Given the description of an element on the screen output the (x, y) to click on. 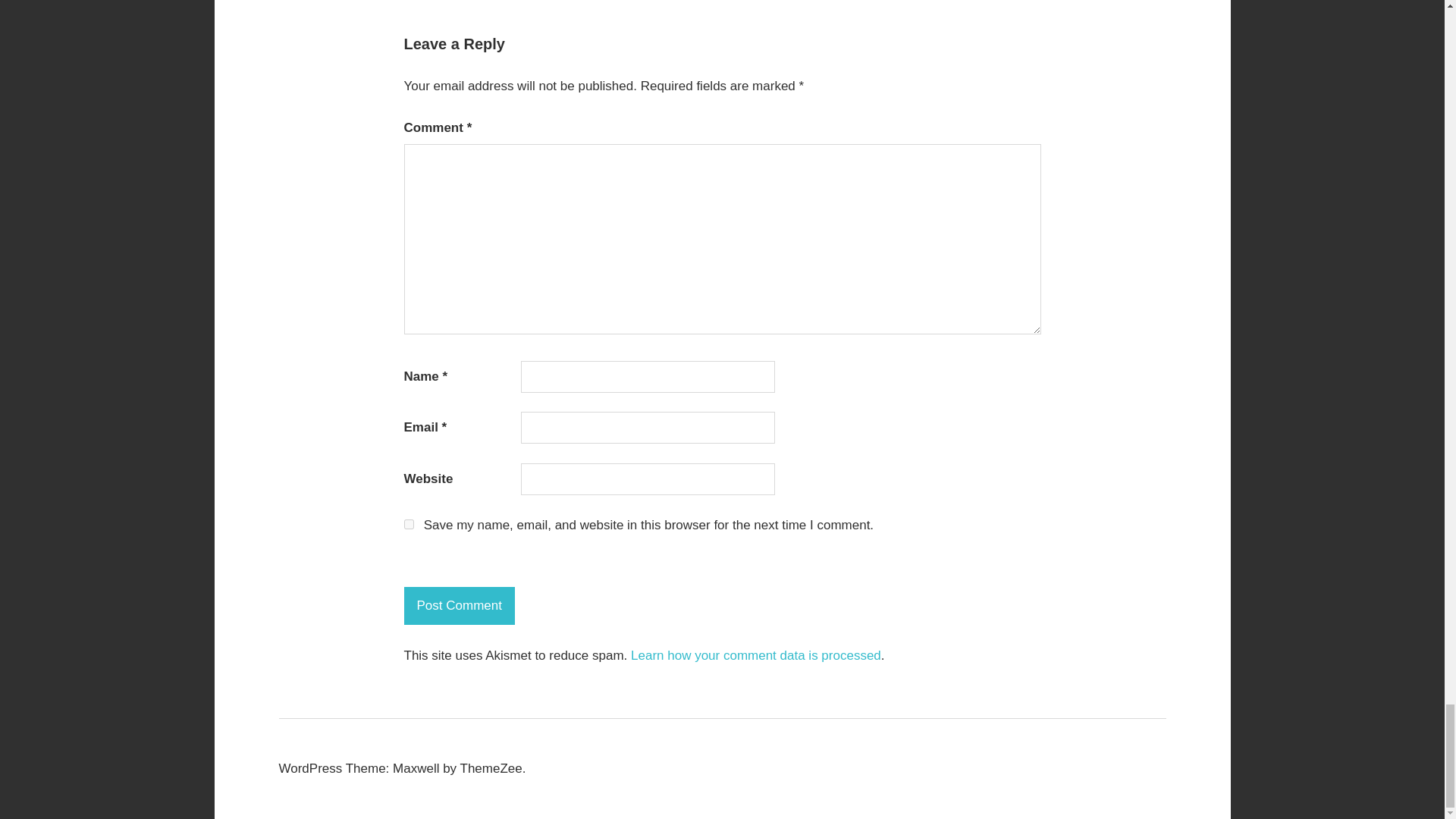
Post Comment (458, 605)
yes (408, 524)
Post Comment (458, 605)
Learn how your comment data is processed (755, 655)
